Given the description of an element on the screen output the (x, y) to click on. 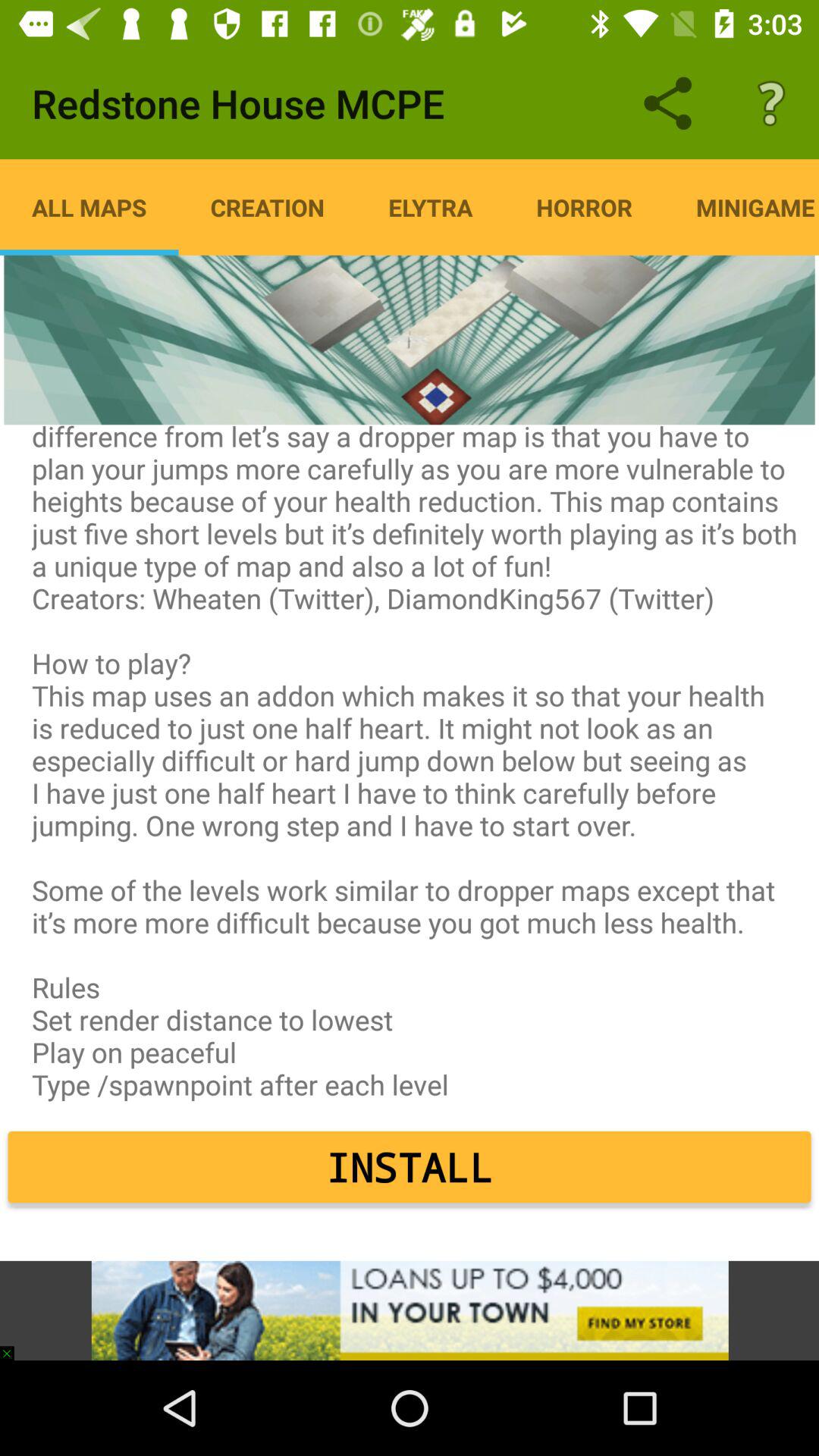
click the item next to minigame item (584, 207)
